Given the description of an element on the screen output the (x, y) to click on. 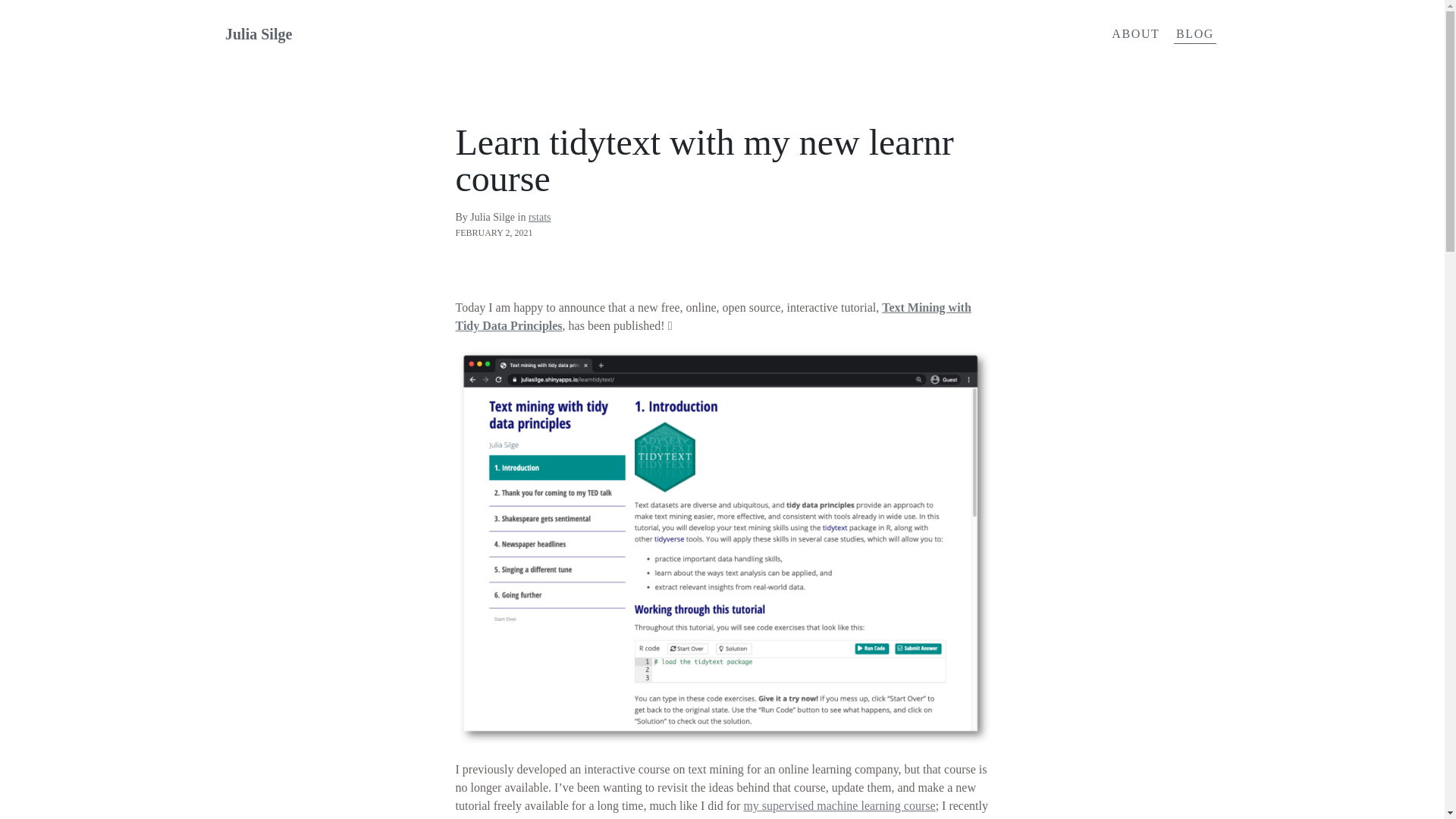
About me (1135, 34)
Blog (1195, 34)
my supervised machine learning course (838, 805)
BLOG (1195, 34)
Julia Silge (388, 34)
ABOUT (1135, 34)
rstats (539, 216)
Text Mining with Tidy Data Principles (712, 316)
Home (388, 34)
